Given the description of an element on the screen output the (x, y) to click on. 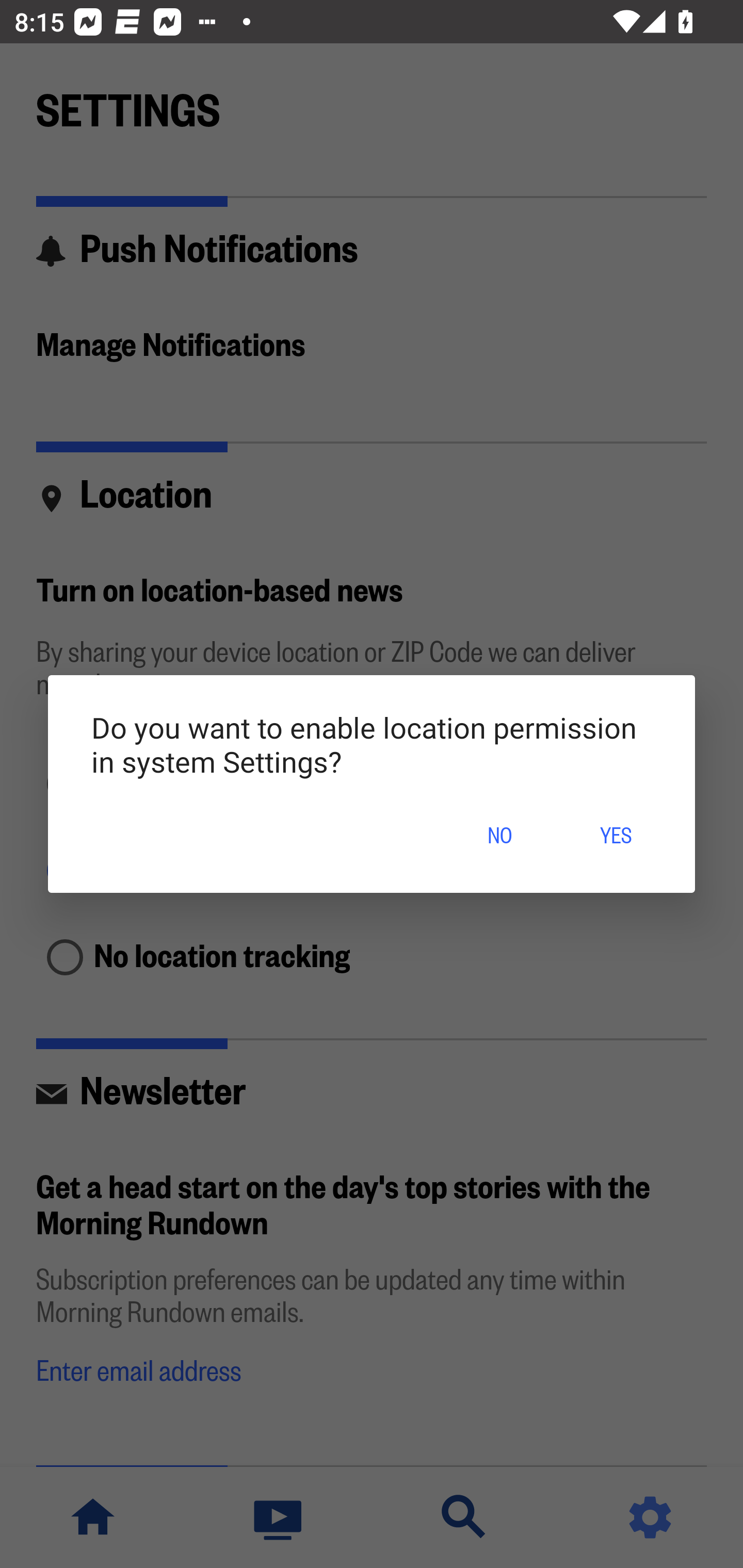
NO (499, 836)
YES (615, 836)
